Given the description of an element on the screen output the (x, y) to click on. 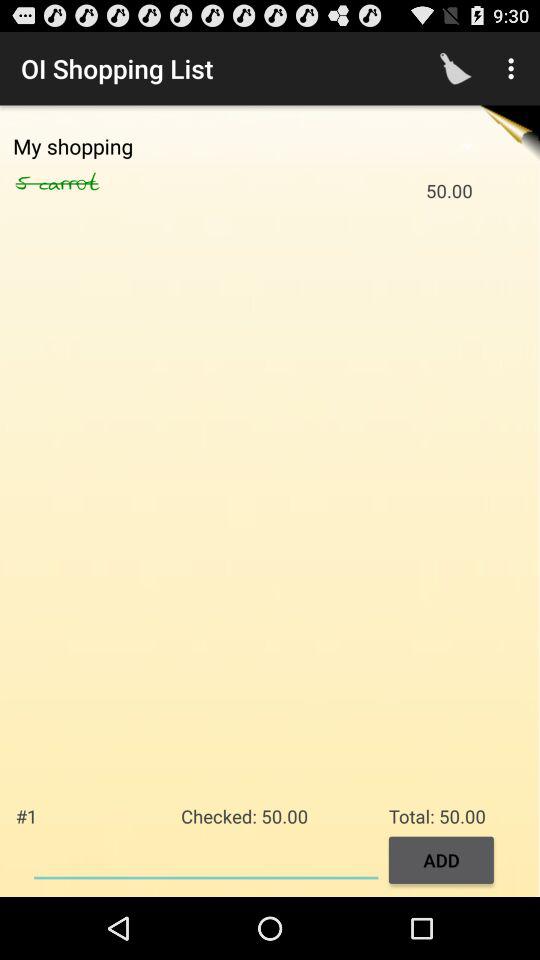
click the icon next to the 50.00 (90, 183)
